Given the description of an element on the screen output the (x, y) to click on. 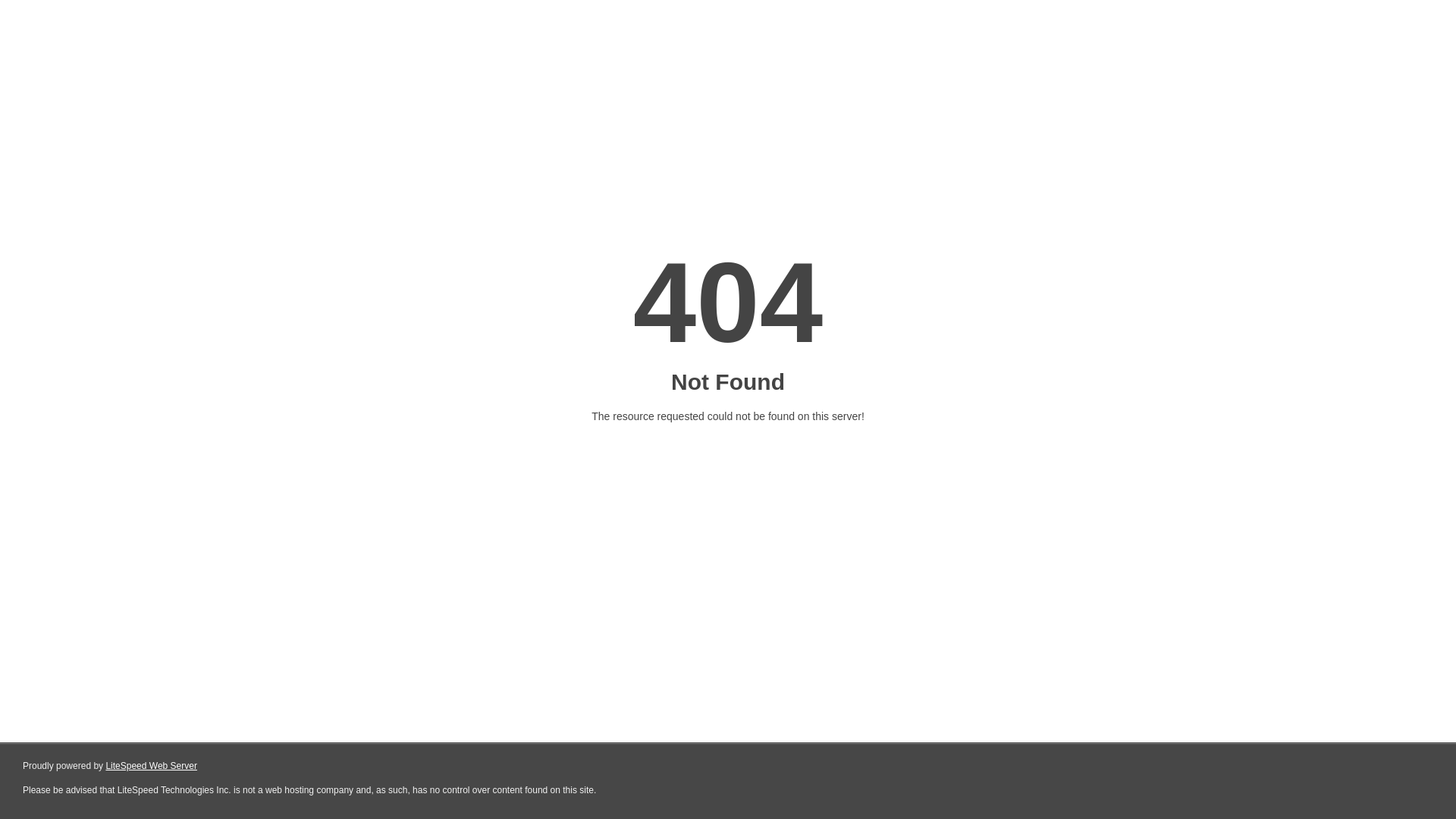
LiteSpeed Web Server Element type: text (151, 765)
